Given the description of an element on the screen output the (x, y) to click on. 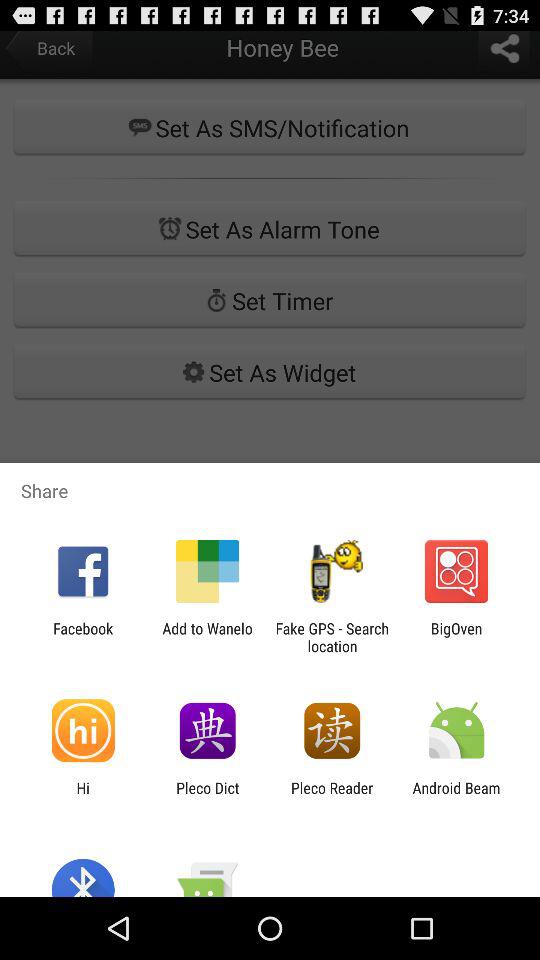
click icon next to hi icon (207, 796)
